Given the description of an element on the screen output the (x, y) to click on. 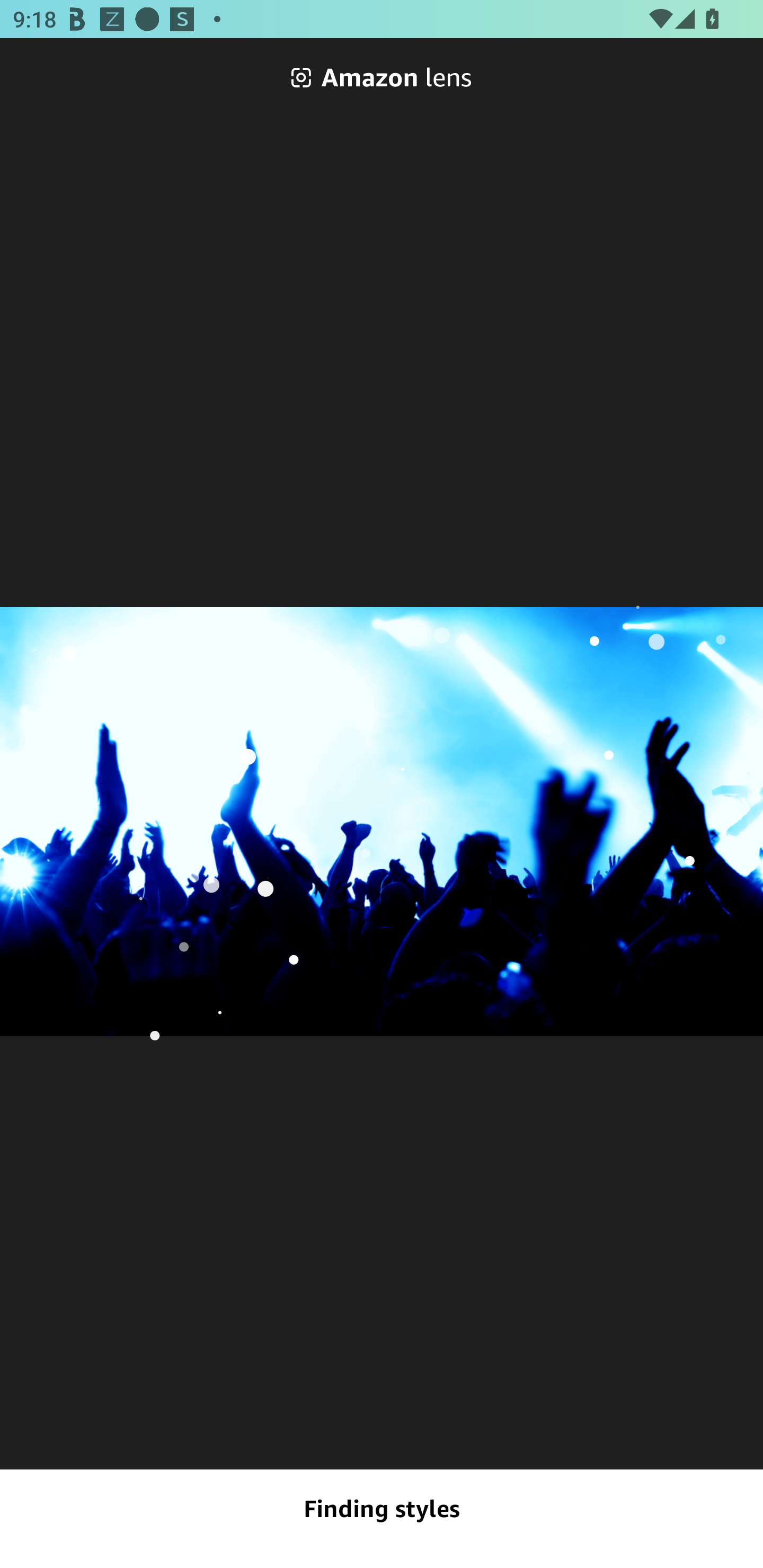
Finding styles (381, 1509)
